Given the description of an element on the screen output the (x, y) to click on. 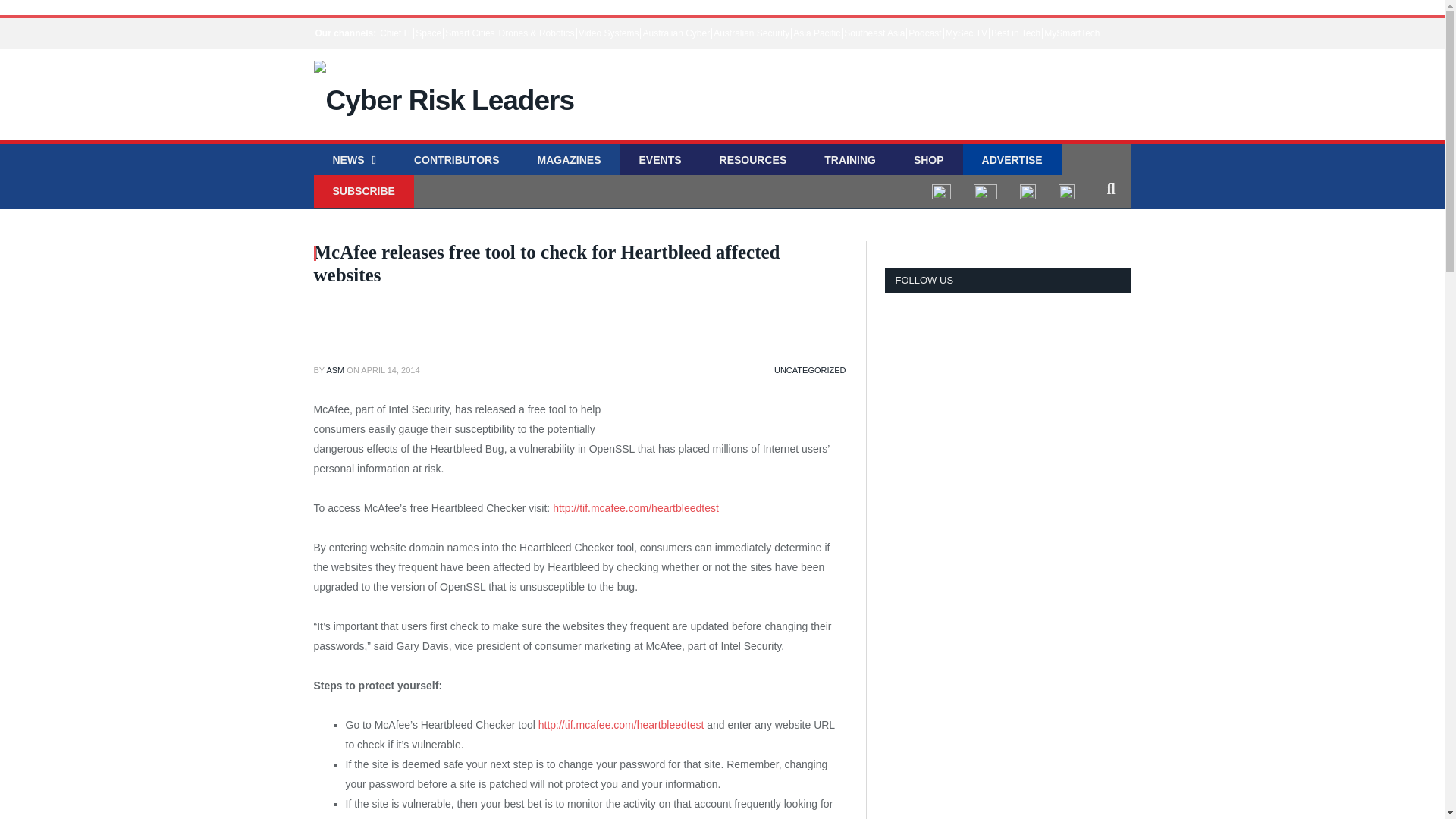
Southeast Asia (873, 32)
Podcast (923, 32)
Our channels: (346, 32)
Space (427, 32)
Smart Cities (469, 32)
Video Systems (608, 32)
MySmartTech (1071, 32)
NEWS (354, 161)
Posts by ASM (334, 369)
TRAINING (850, 161)
EVENTS (660, 161)
Search (1110, 188)
CONTRIBUTORS (456, 161)
Cyber Risk Leaders (444, 91)
Asia Pacific (815, 32)
